Given the description of an element on the screen output the (x, y) to click on. 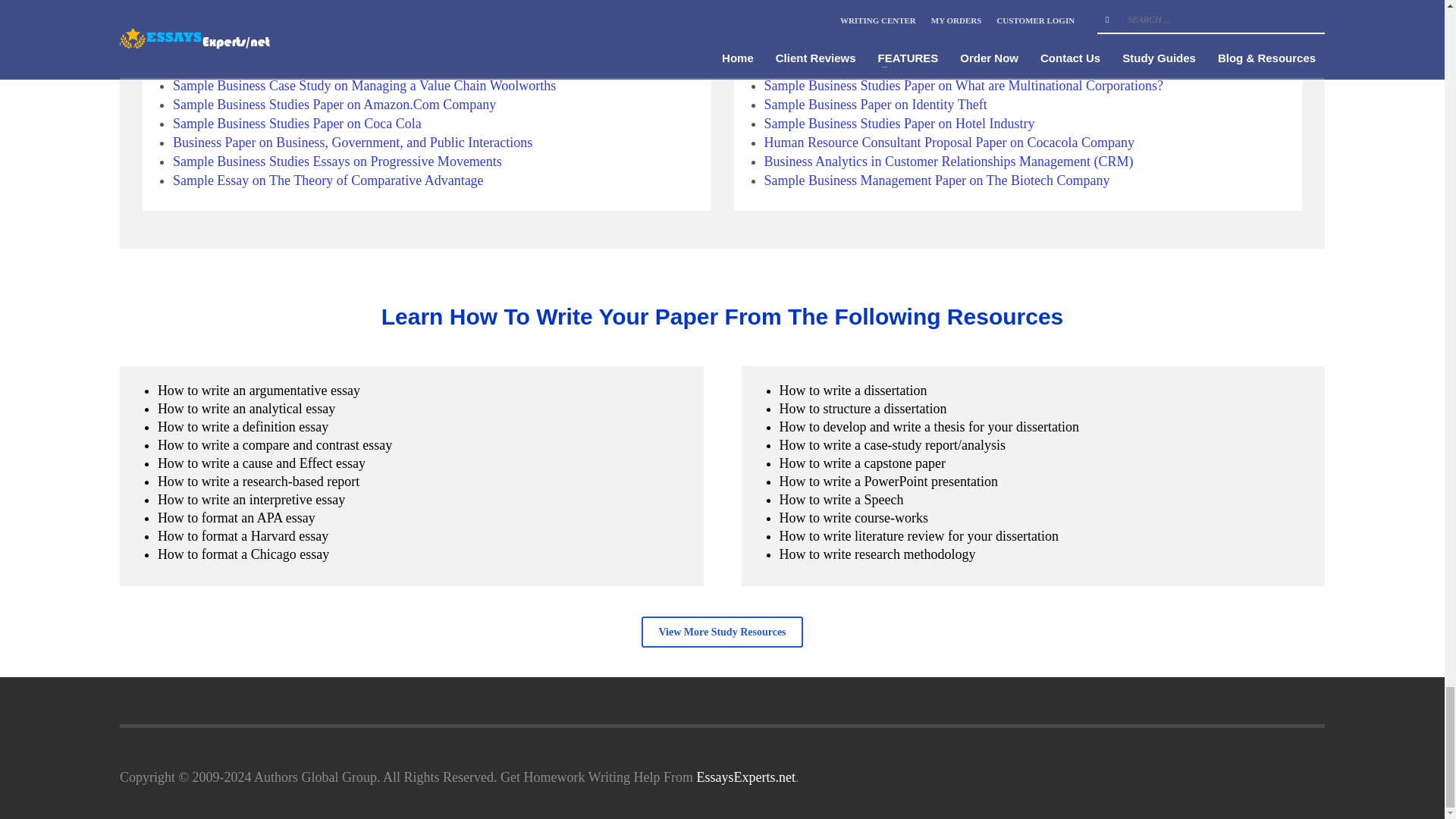
Sample Business Studies Essays on Progressive Movements (337, 160)
Sample Business Paper on Identity Theft (284, 66)
Sample Essay on The Theory of Comparative Advantage (328, 180)
Sample Business Studies Paper on Coca Cola (297, 123)
Sample Business Studies Paper on Amazon.Com Company (334, 104)
Sample Business Studies Essays on Quality Management (329, 9)
